Given the description of an element on the screen output the (x, y) to click on. 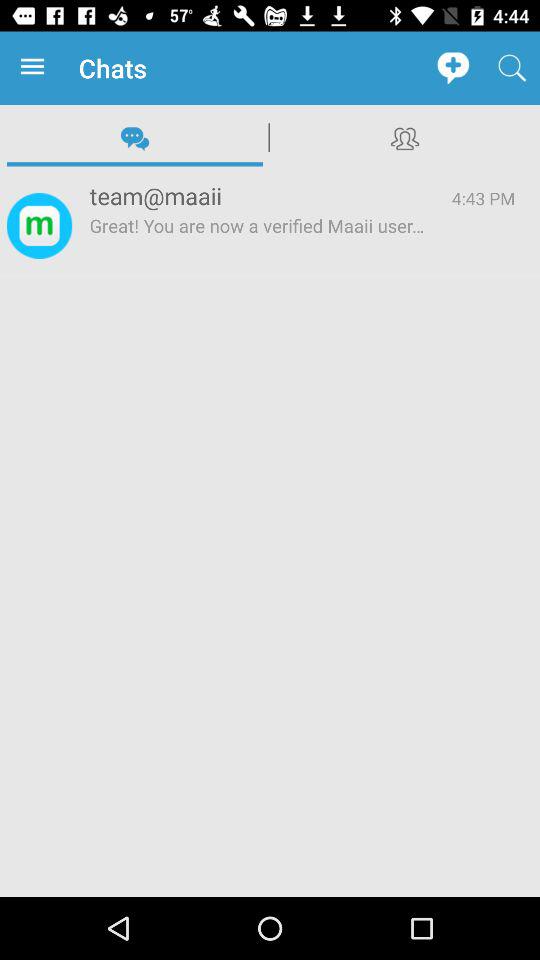
scroll until great you are app (258, 245)
